Given the description of an element on the screen output the (x, y) to click on. 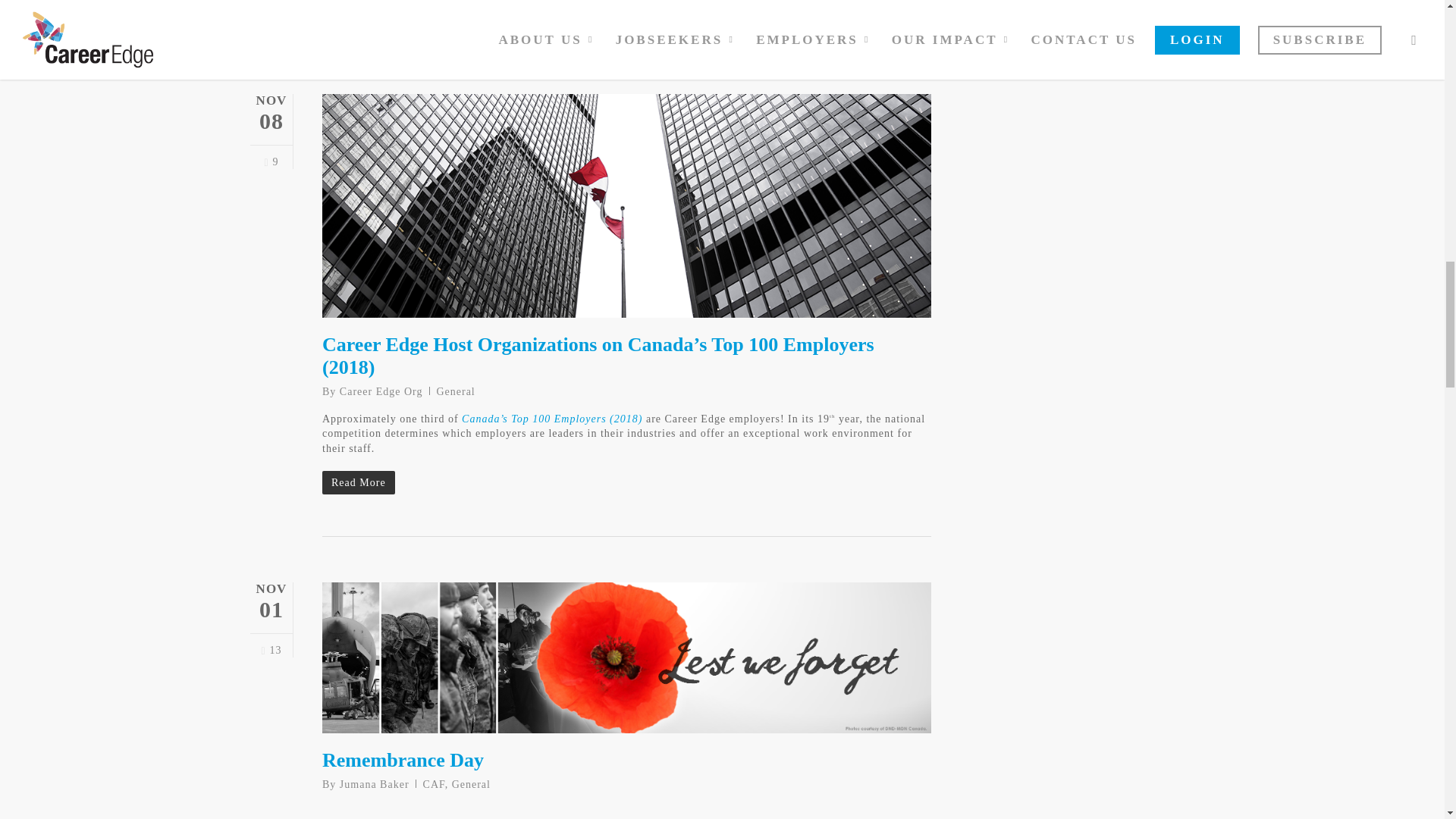
Love this (270, 162)
Posts by Jumana Baker (374, 784)
Love this (270, 650)
Posts by Career Edge Org (381, 391)
